Given the description of an element on the screen output the (x, y) to click on. 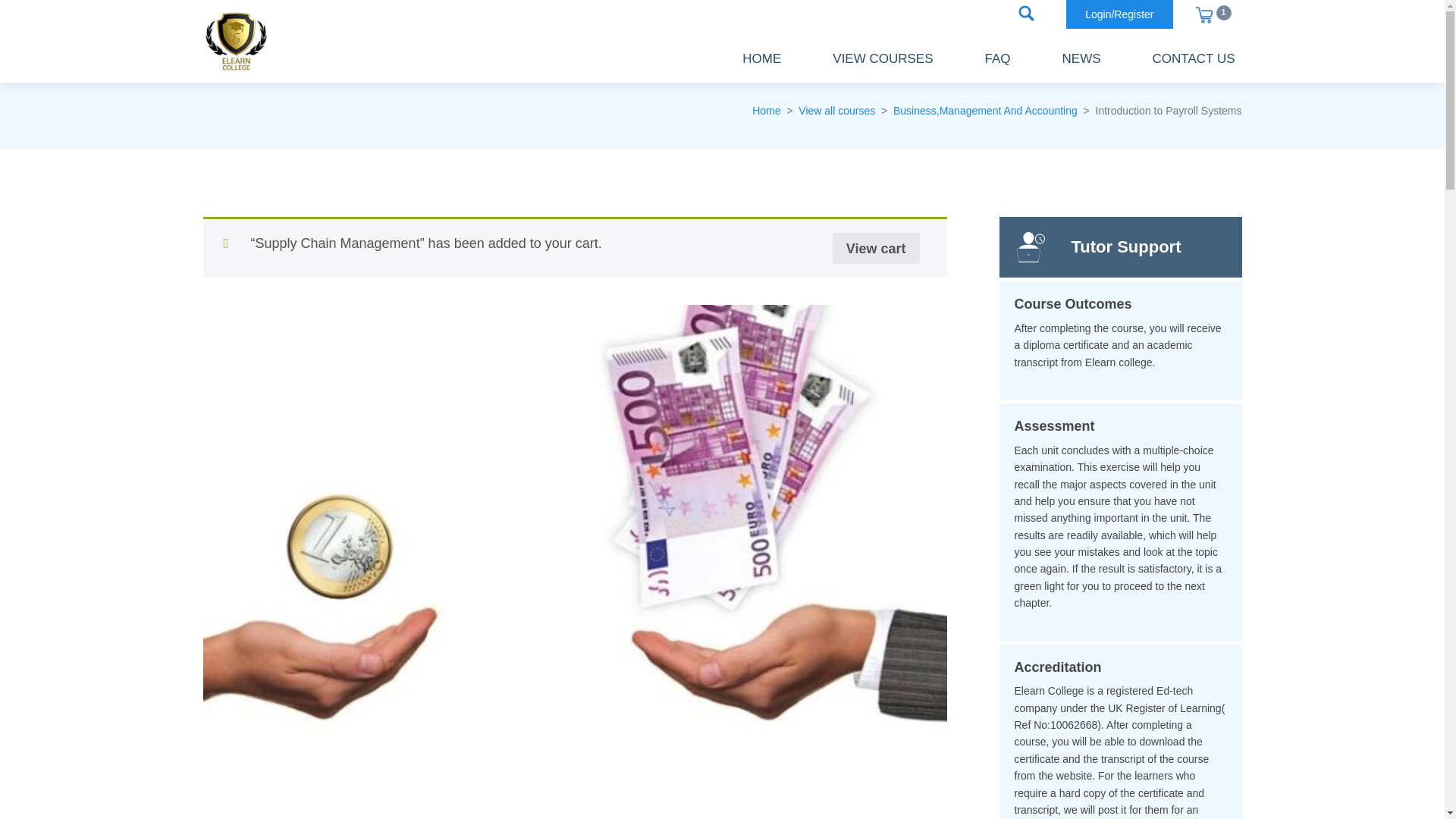
View cart (876, 247)
Business,Management And Accounting (985, 110)
HOME (761, 58)
Home (766, 110)
View all courses (836, 110)
CONTACT US (1193, 58)
FAQ (997, 58)
VIEW COURSES (882, 58)
NEWS (1081, 58)
